Given the description of an element on the screen output the (x, y) to click on. 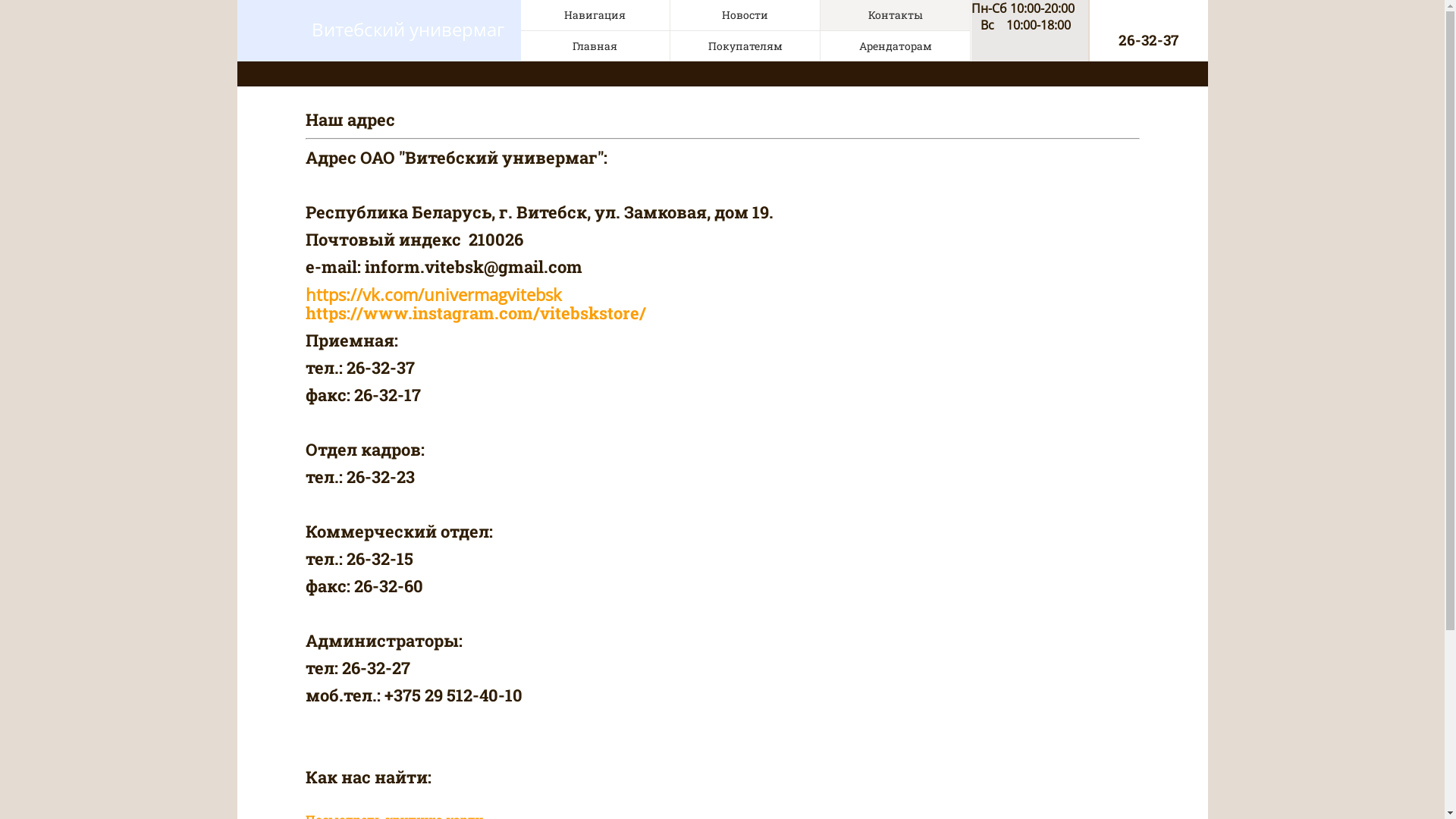
https://vk.com/univermagvitebsk Element type: text (432, 293)
  Element type: text (647, 312)
https://www.instagram.com/vitebskstore/ Element type: text (474, 312)
